Given the description of an element on the screen output the (x, y) to click on. 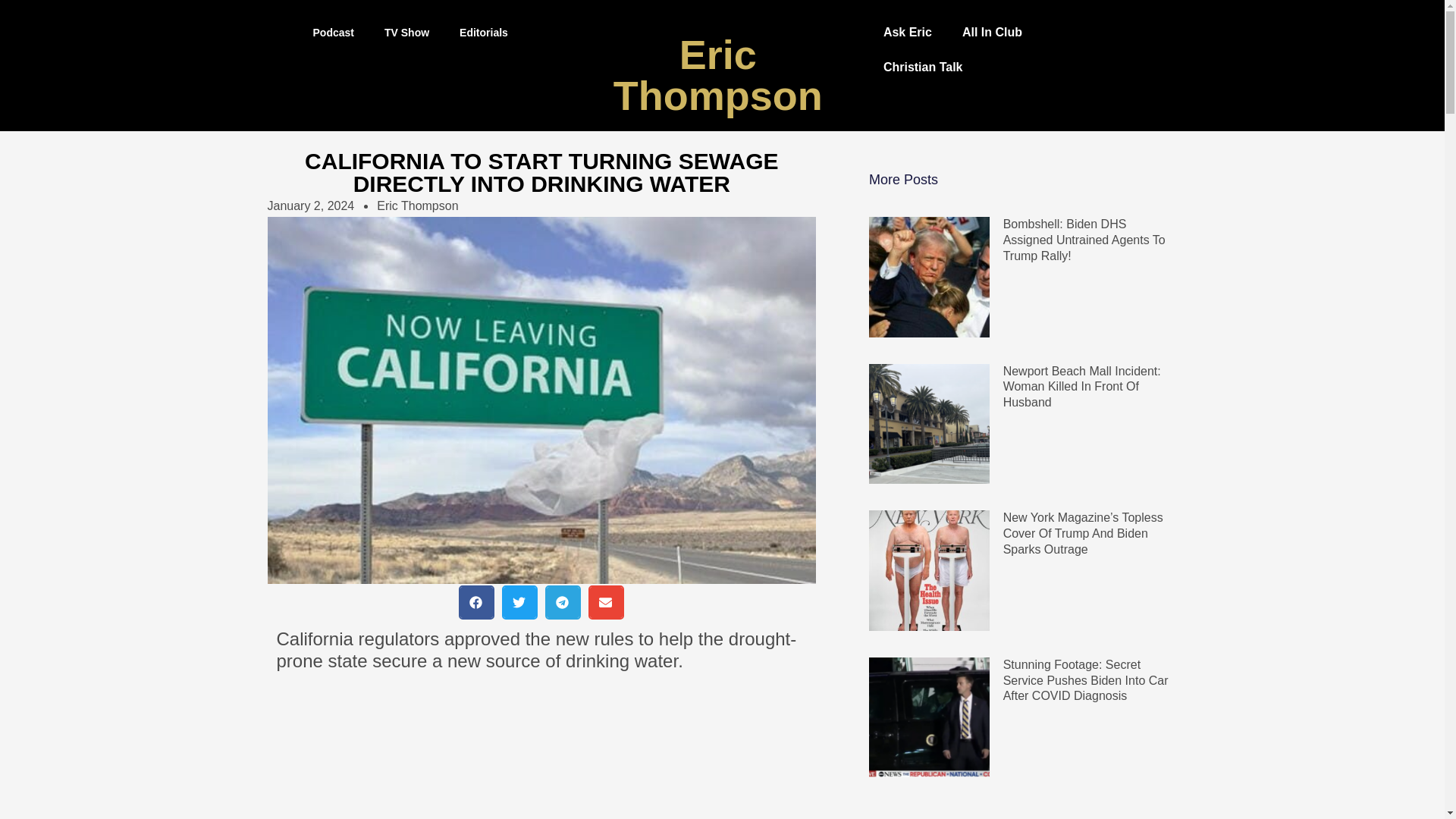
Eric Thompson (717, 74)
TV Show (406, 32)
Christian Talk (922, 67)
Editorials (483, 32)
Advertisement (541, 749)
Podcast (332, 32)
Ask Eric (907, 32)
All In Club (991, 32)
